Given the description of an element on the screen output the (x, y) to click on. 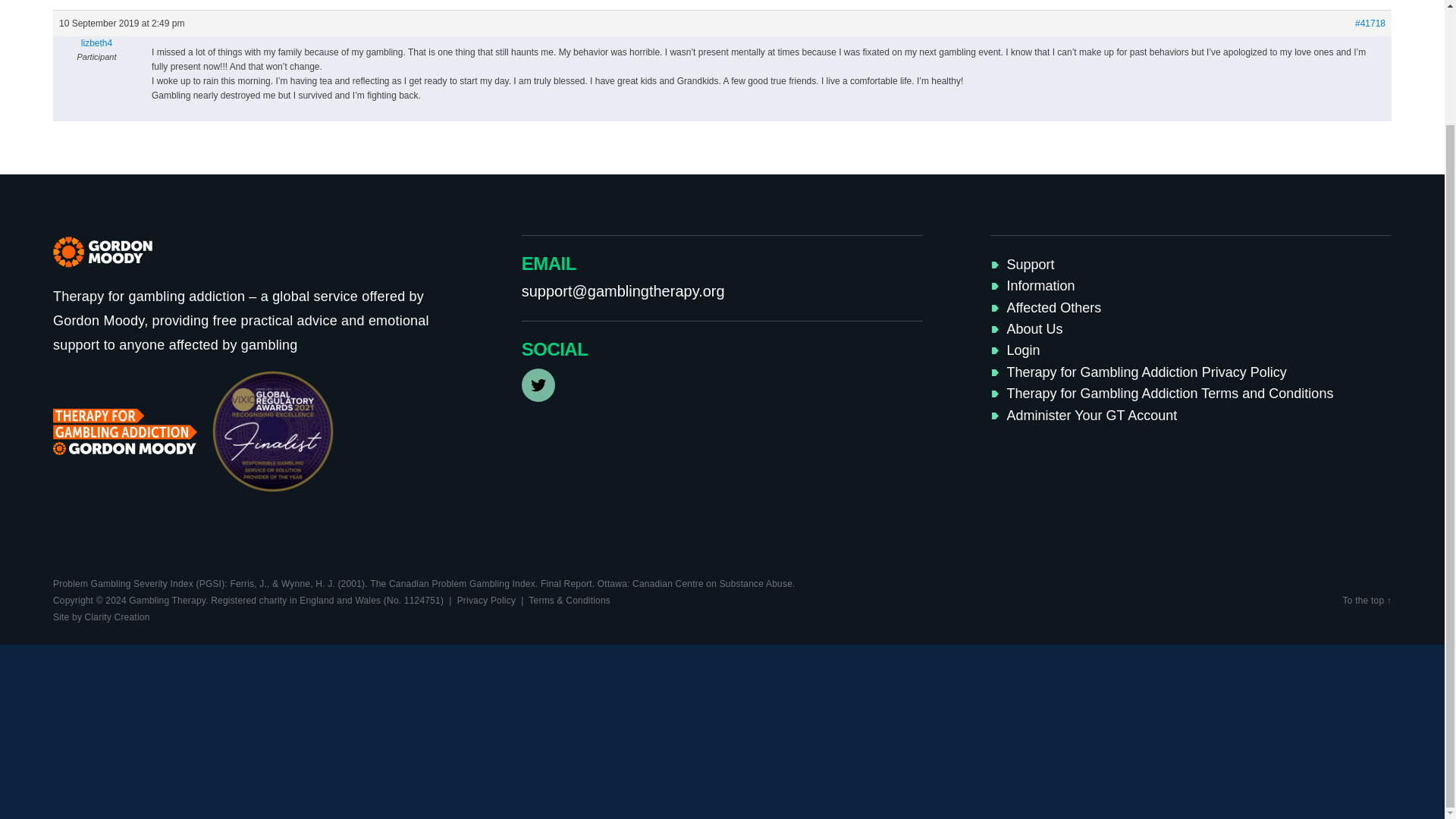
View lizbeth4's profile (95, 42)
Visit the Clarity Creation website (100, 616)
